Given the description of an element on the screen output the (x, y) to click on. 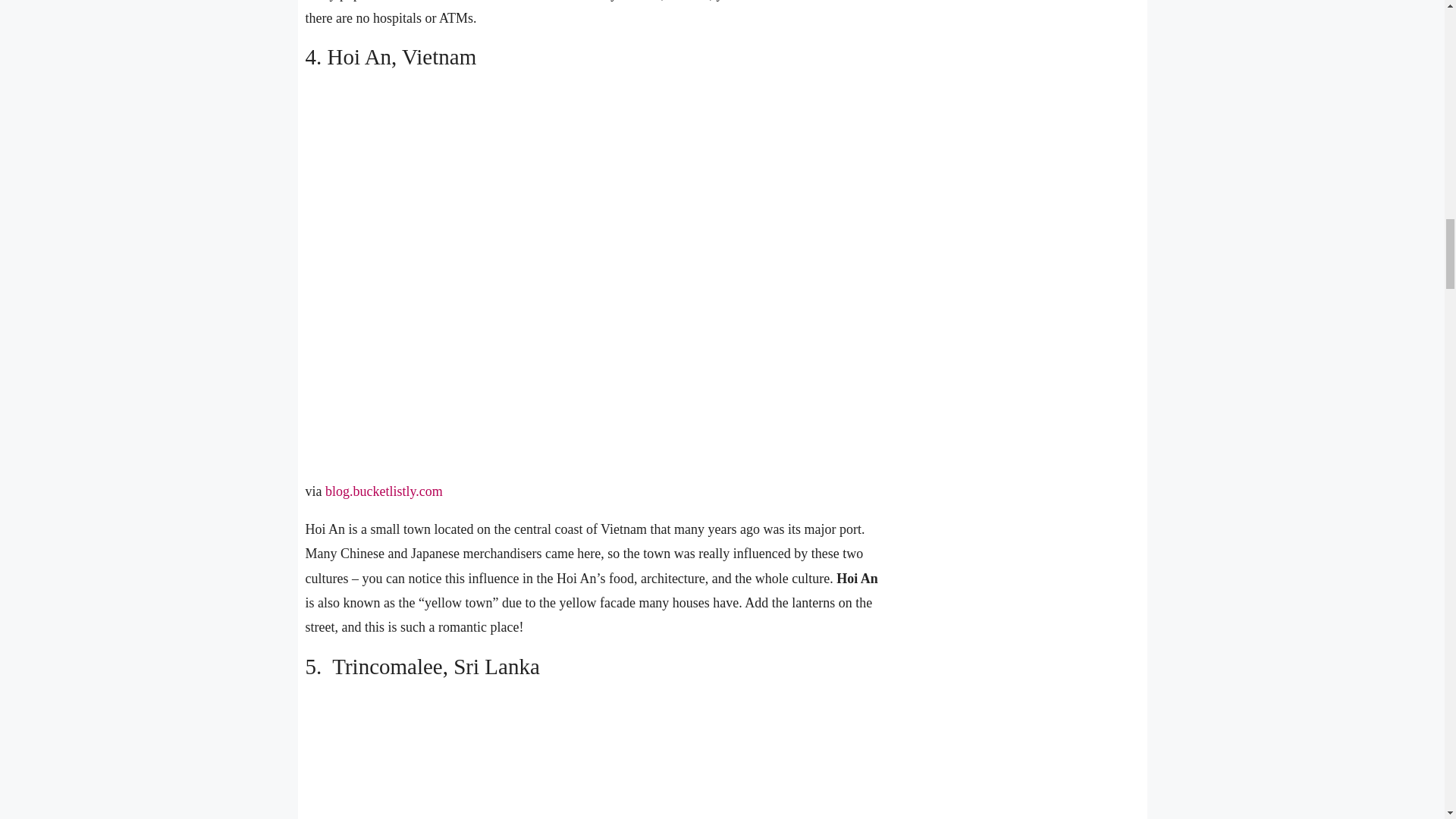
Trincomalee-Sri-Lanka (583, 757)
blog.bucketlistly.com (383, 491)
